Given the description of an element on the screen output the (x, y) to click on. 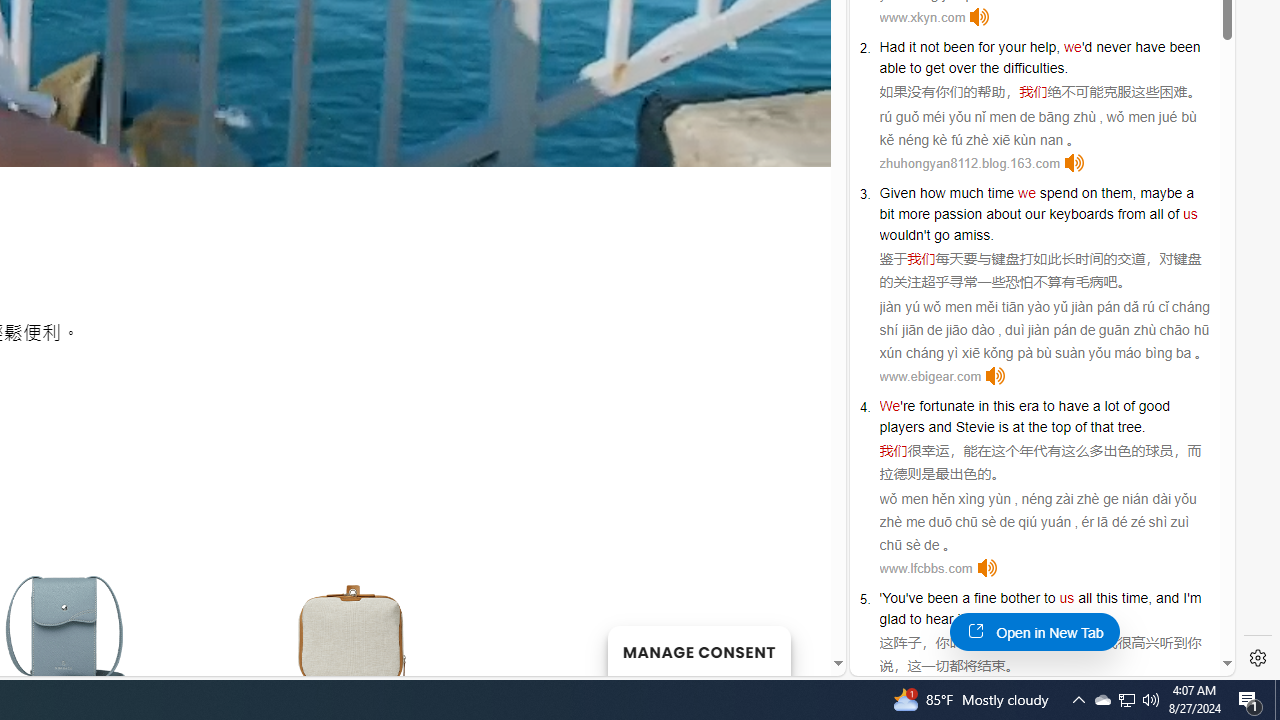
over (962, 67)
never (1113, 46)
not (929, 46)
good (1153, 405)
' (881, 597)
zhuhongyan8112.blog.163.com (969, 163)
is (1003, 426)
Given (897, 192)
